Given the description of an element on the screen output the (x, y) to click on. 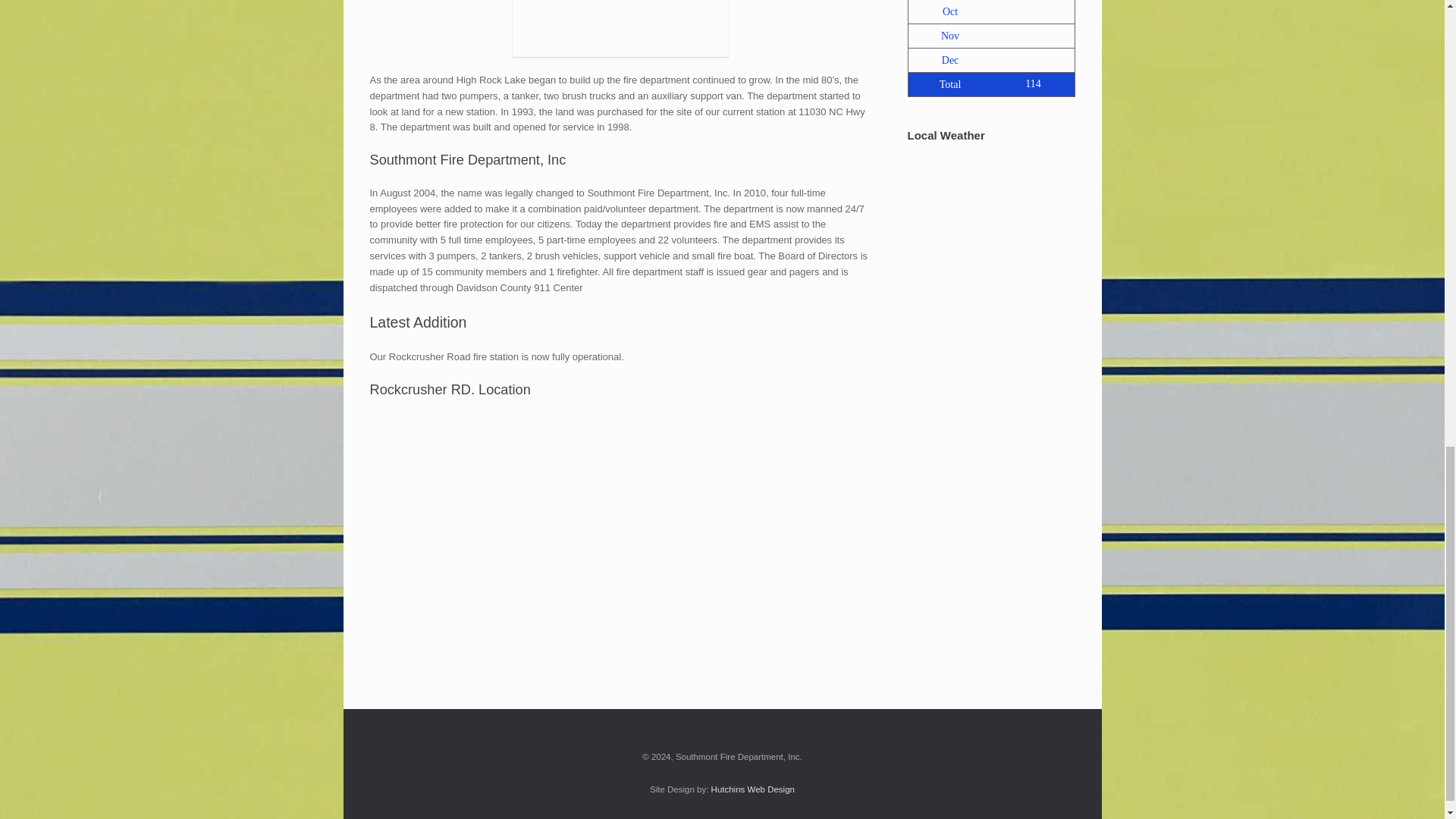
Hutchins Web Design (752, 788)
